Given the description of an element on the screen output the (x, y) to click on. 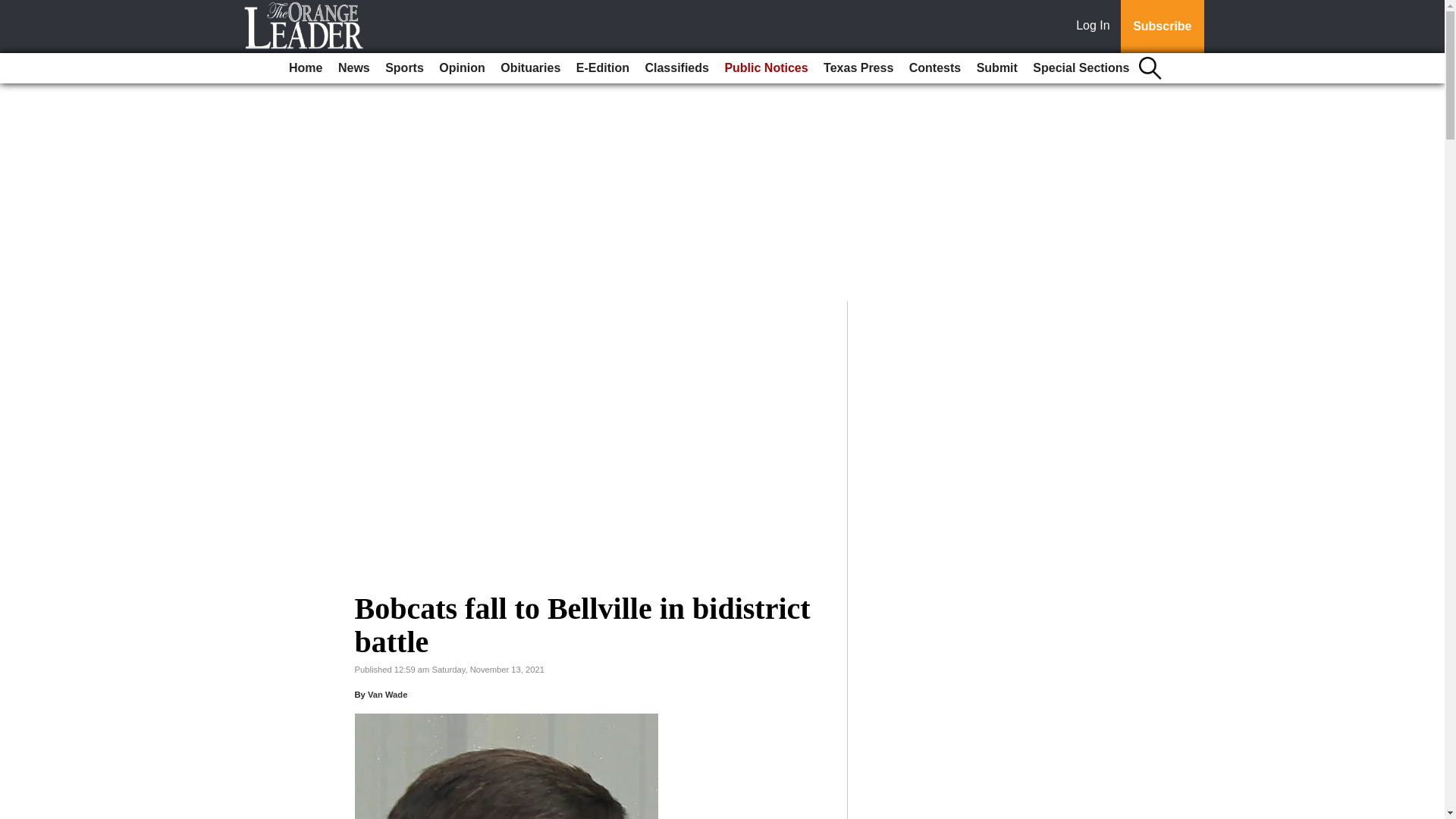
News (353, 68)
Subscribe (1162, 26)
Home (305, 68)
Log In (1095, 26)
Submit (997, 68)
Opinion (461, 68)
Special Sections (1080, 68)
Contests (934, 68)
Sports (403, 68)
Classifieds (676, 68)
Obituaries (530, 68)
Van Wade (387, 694)
Public Notices (765, 68)
Go (13, 9)
E-Edition (602, 68)
